Given the description of an element on the screen output the (x, y) to click on. 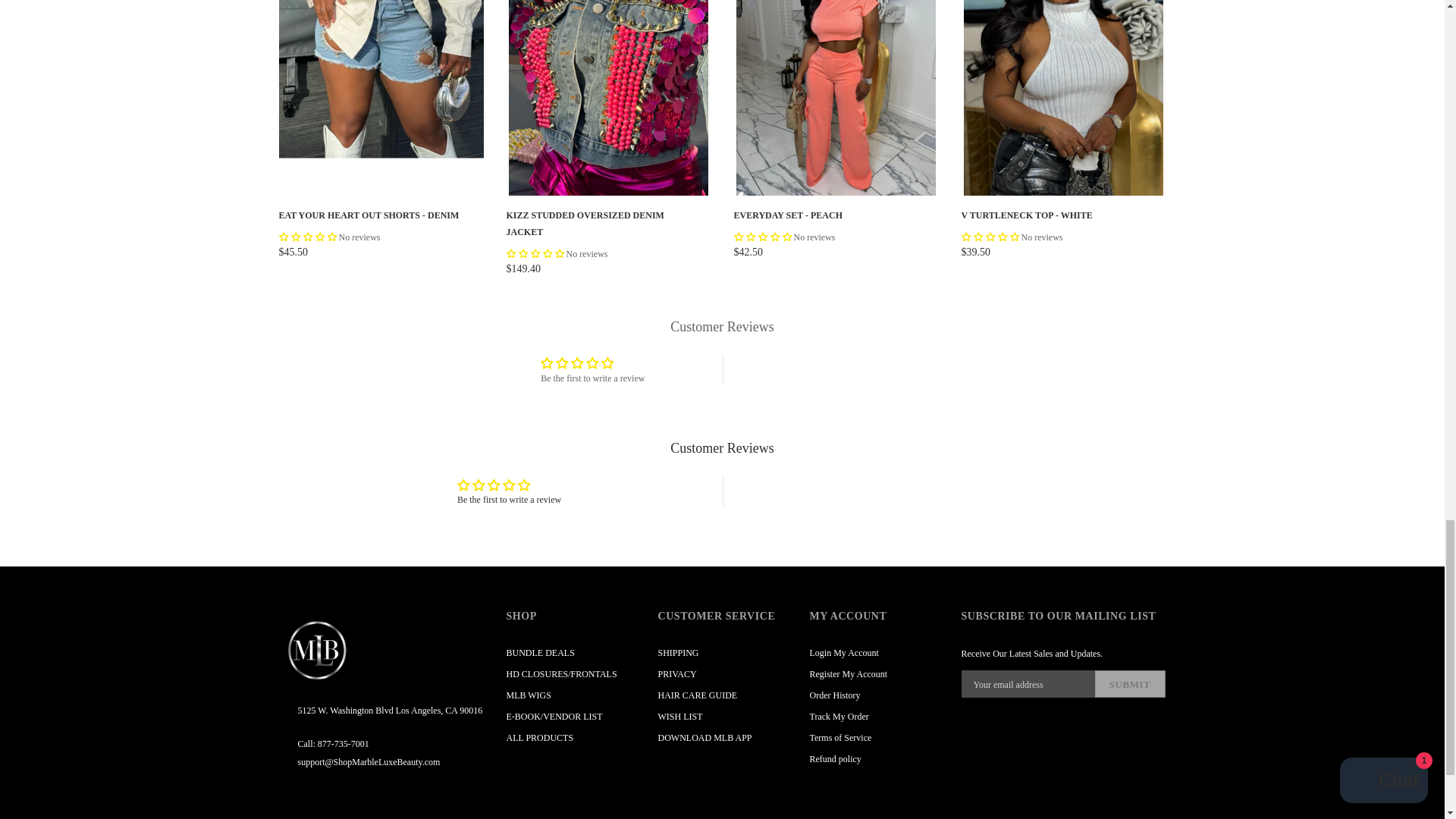
Submit (1130, 683)
